Given the description of an element on the screen output the (x, y) to click on. 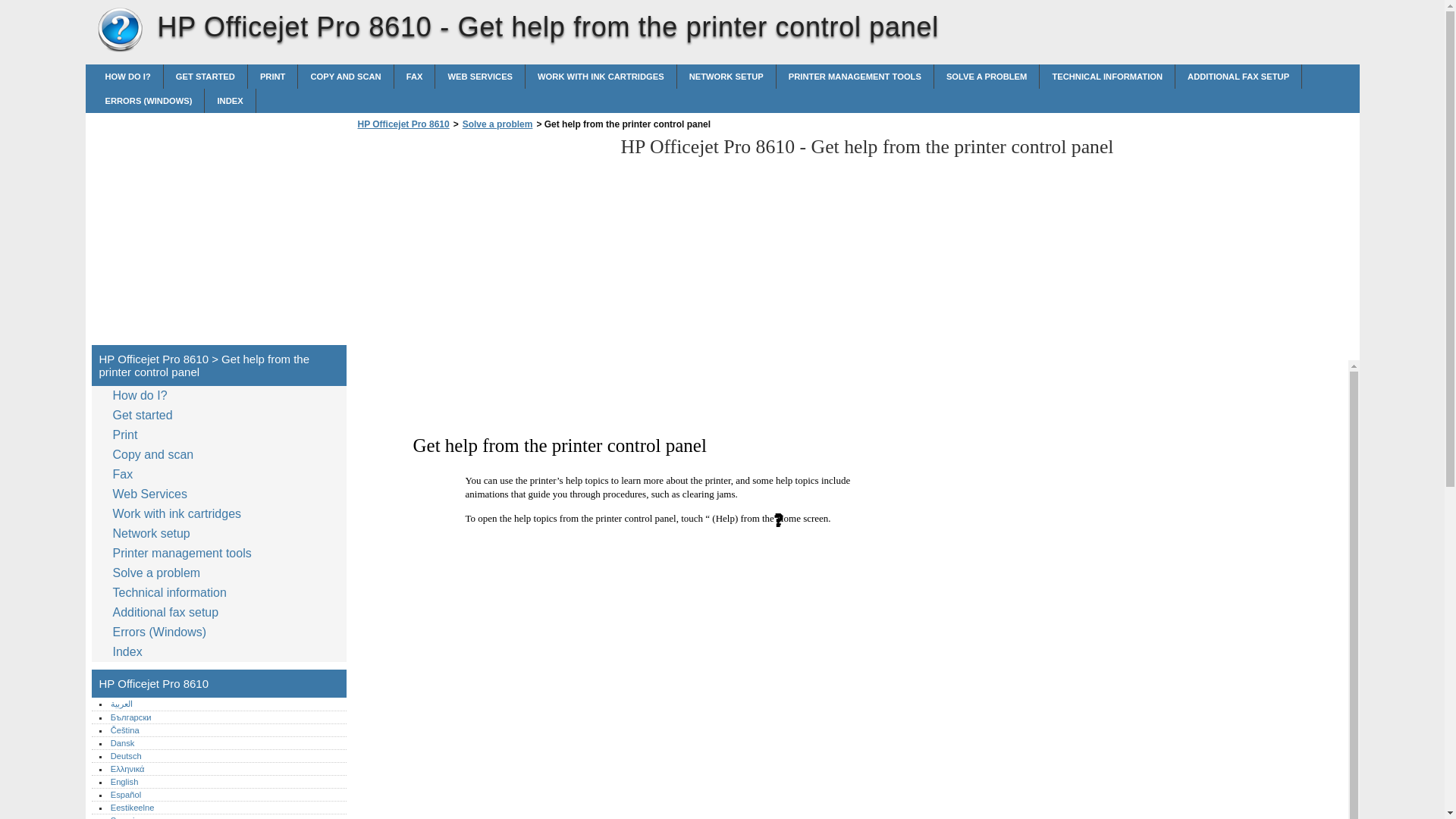
GET STARTED (205, 76)
Index (229, 100)
Get started (145, 415)
TECHNICAL INFORMATION (1106, 76)
Get started (205, 76)
WEB SERVICES (479, 76)
FAX (414, 76)
Web Services (479, 76)
Advertisement (218, 226)
SOLVE A PROBLEM (986, 76)
